Given the description of an element on the screen output the (x, y) to click on. 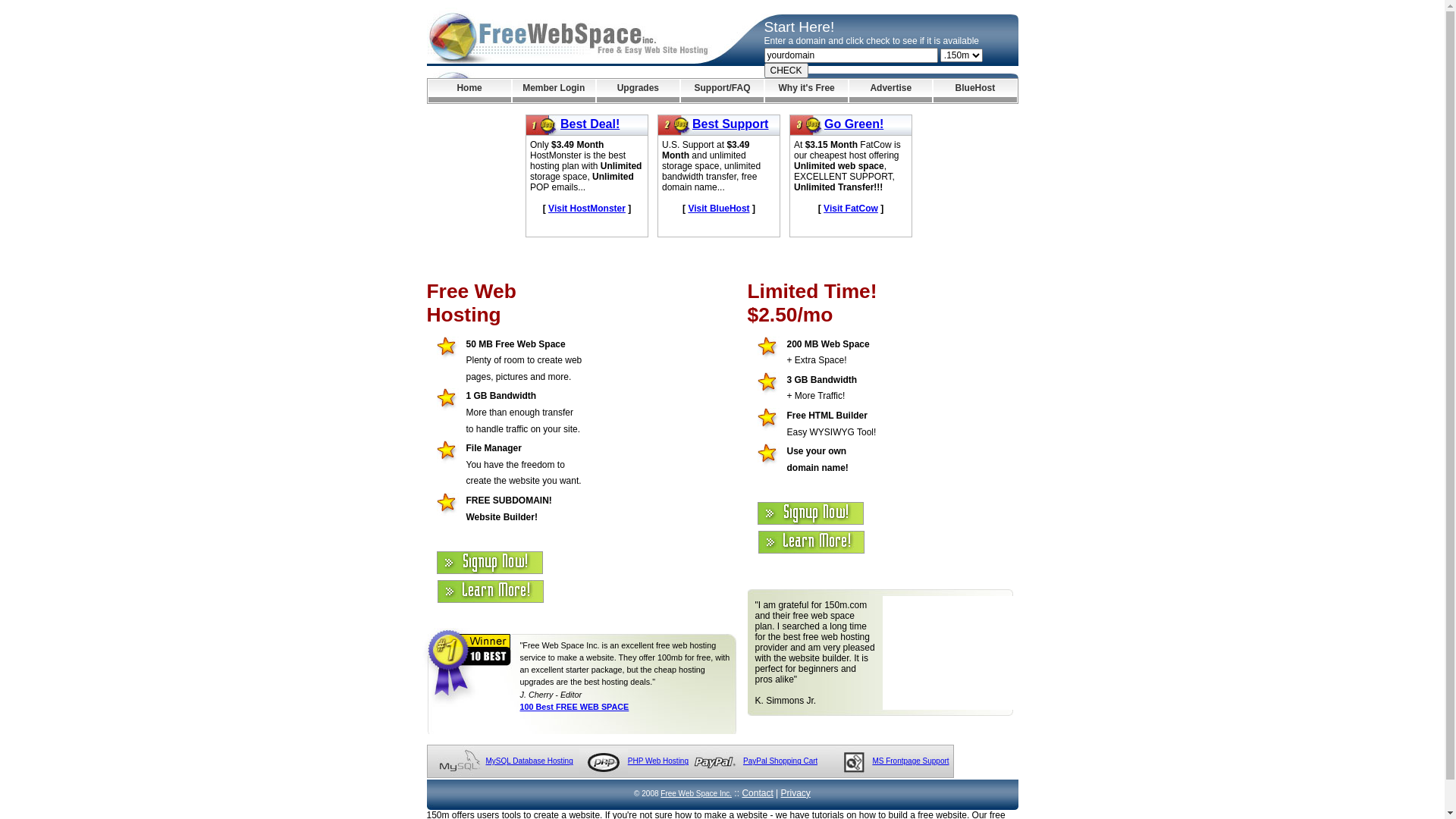
100 Best FREE WEB SPACE Element type: text (574, 706)
Upgrades Element type: text (637, 90)
Why it's Free Element type: text (806, 90)
Support/FAQ Element type: text (721, 90)
PHP Web Hosting Element type: text (657, 760)
Free Web Space Inc. Element type: text (695, 793)
Contact Element type: text (756, 792)
PayPal Shopping Cart Element type: text (780, 760)
MS Frontpage Support Element type: text (910, 760)
BlueHost Element type: text (974, 90)
Advertise Element type: text (890, 90)
MySQL Database Hosting Element type: text (528, 760)
Privacy Element type: text (795, 792)
Member Login Element type: text (553, 90)
CHECK Element type: text (786, 70)
Home Element type: text (468, 90)
